Given the description of an element on the screen output the (x, y) to click on. 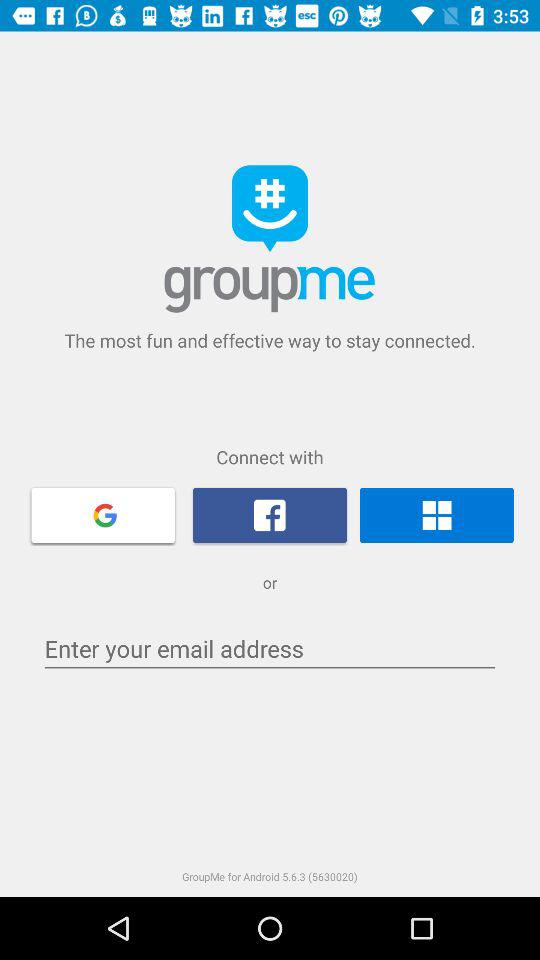
press icon below connect with (269, 515)
